Given the description of an element on the screen output the (x, y) to click on. 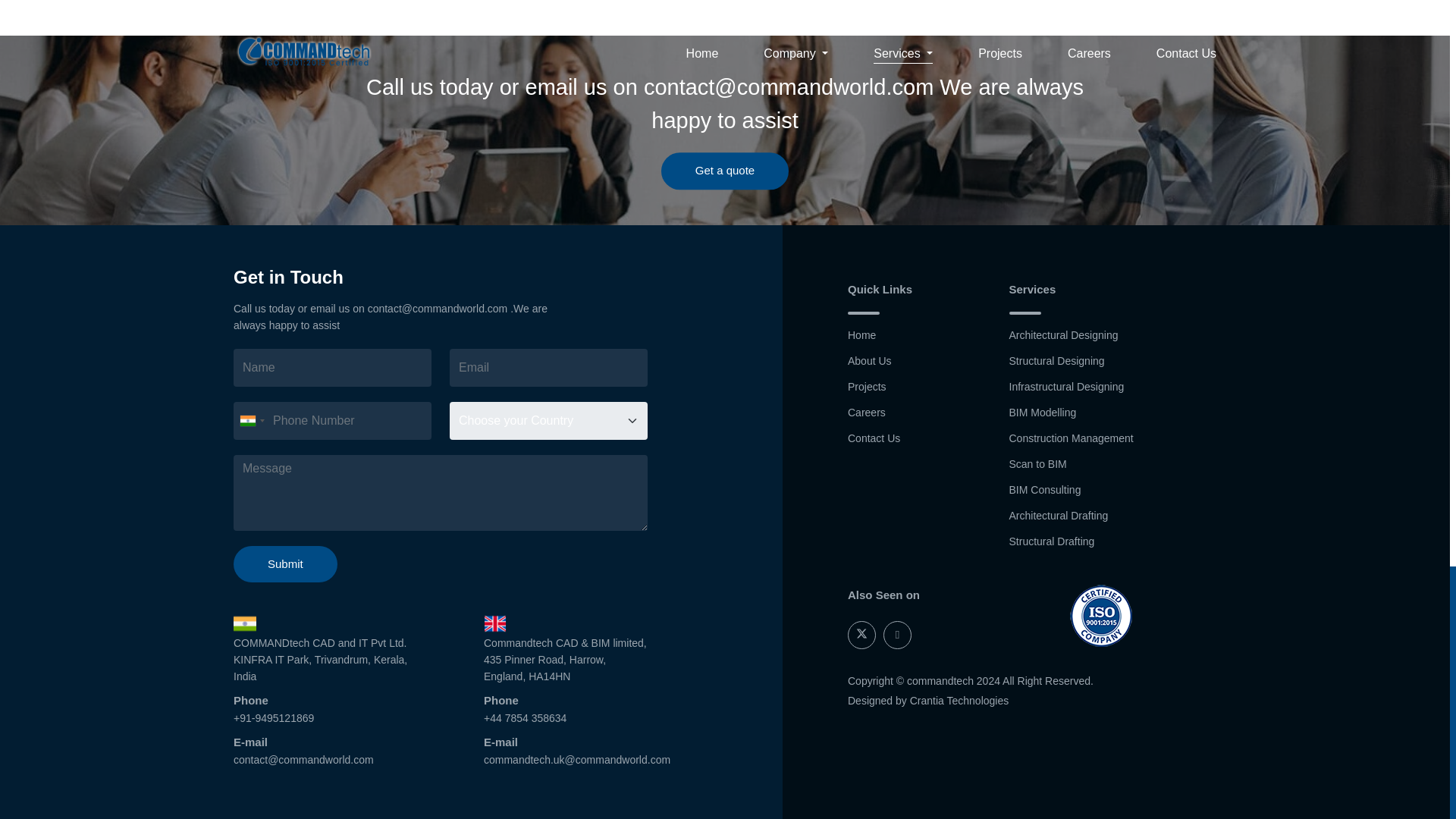
Submit (284, 564)
